Given the description of an element on the screen output the (x, y) to click on. 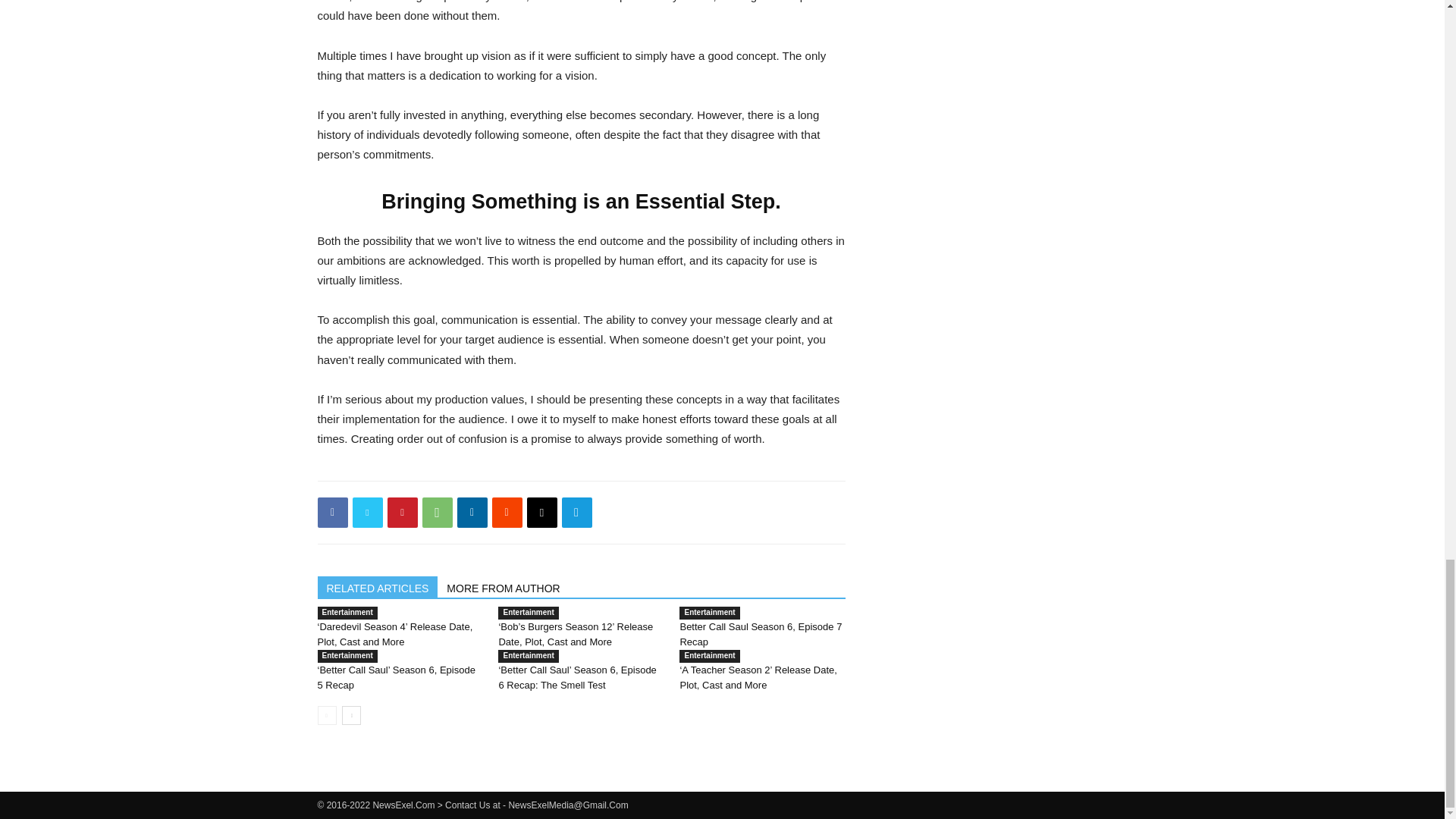
Facebook (332, 512)
WhatsApp (436, 512)
Linkedin (471, 512)
Twitter (366, 512)
Pinterest (401, 512)
